Given the description of an element on the screen output the (x, y) to click on. 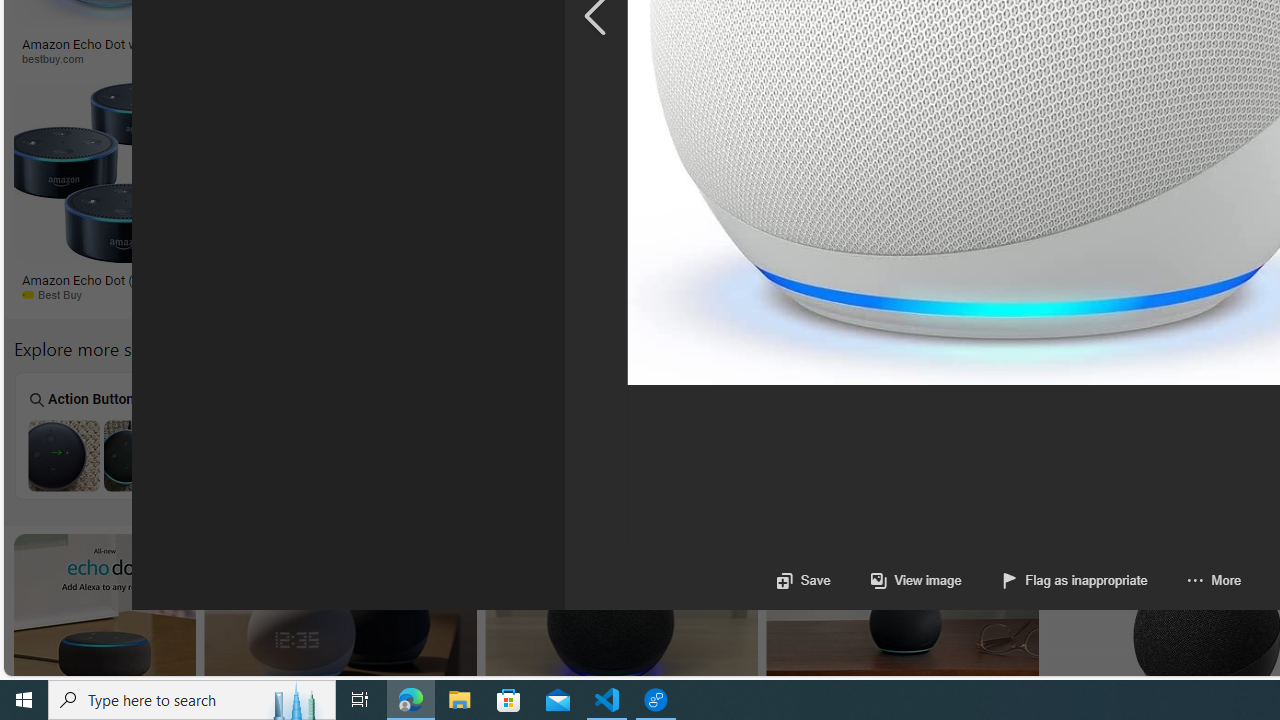
Amazon Echo Dot Action Button Action Button (101, 435)
INQUIRER.net (1051, 58)
Image result for Newest Amazon Echo Dot (902, 623)
3rd Generation Speaker (1181, 435)
Amazon Echo Dot Photo No Background (281, 455)
